Given the description of an element on the screen output the (x, y) to click on. 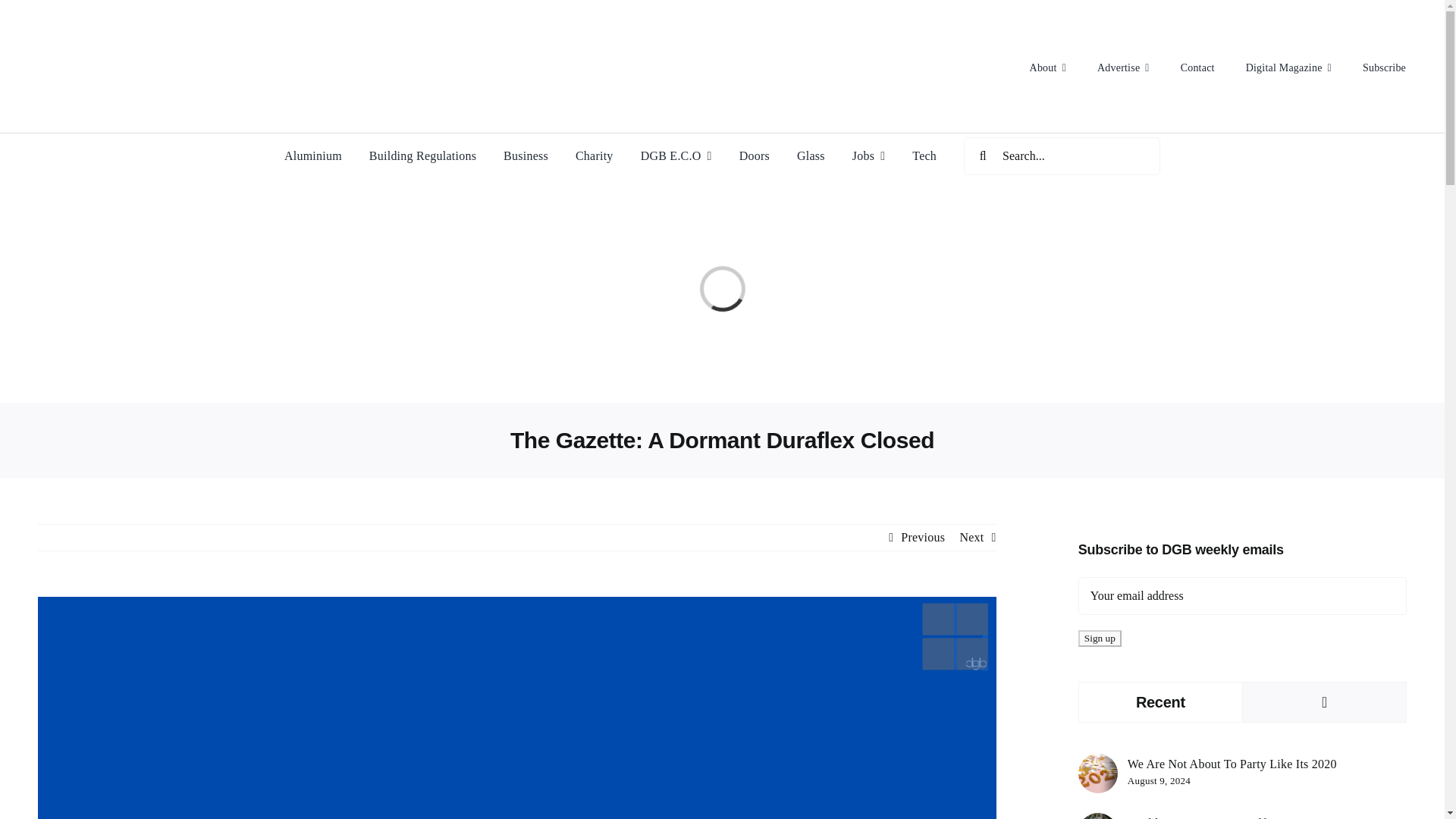
Digital Magazine (1289, 67)
Advertise (1123, 67)
Building Regulations (421, 156)
Glass (810, 156)
Jobs (868, 156)
Contact (1198, 67)
Subscribe (1385, 67)
DGB E.C.O (675, 156)
About (1047, 67)
Doors (754, 156)
